Given the description of an element on the screen output the (x, y) to click on. 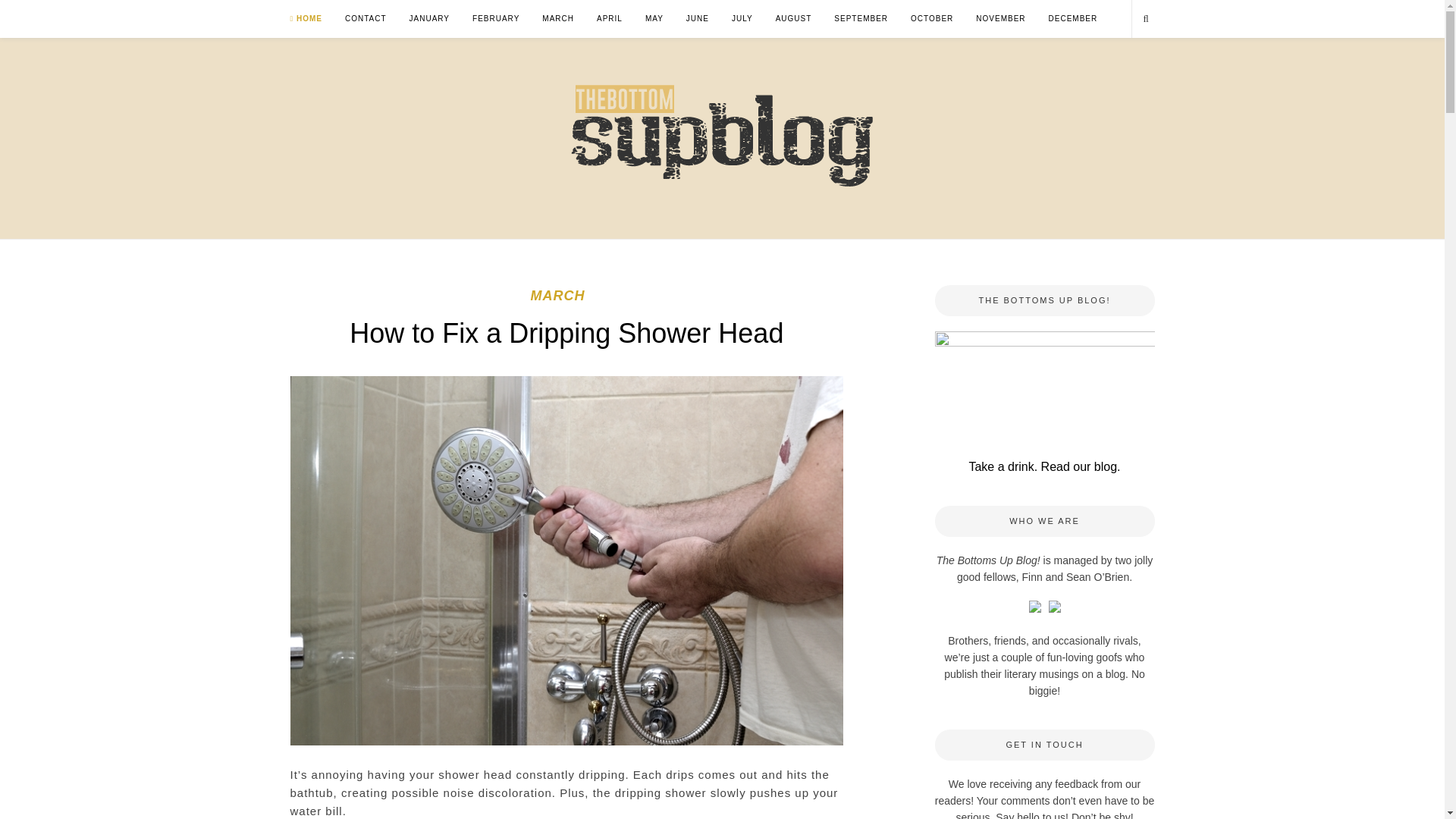
JANUARY (429, 18)
NOVEMBER (1000, 18)
DECEMBER (1072, 18)
MARCH (557, 295)
SEPTEMBER (861, 18)
FEBRUARY (495, 18)
CONTACT (366, 18)
OCTOBER (932, 18)
AUGUST (794, 18)
